Given the description of an element on the screen output the (x, y) to click on. 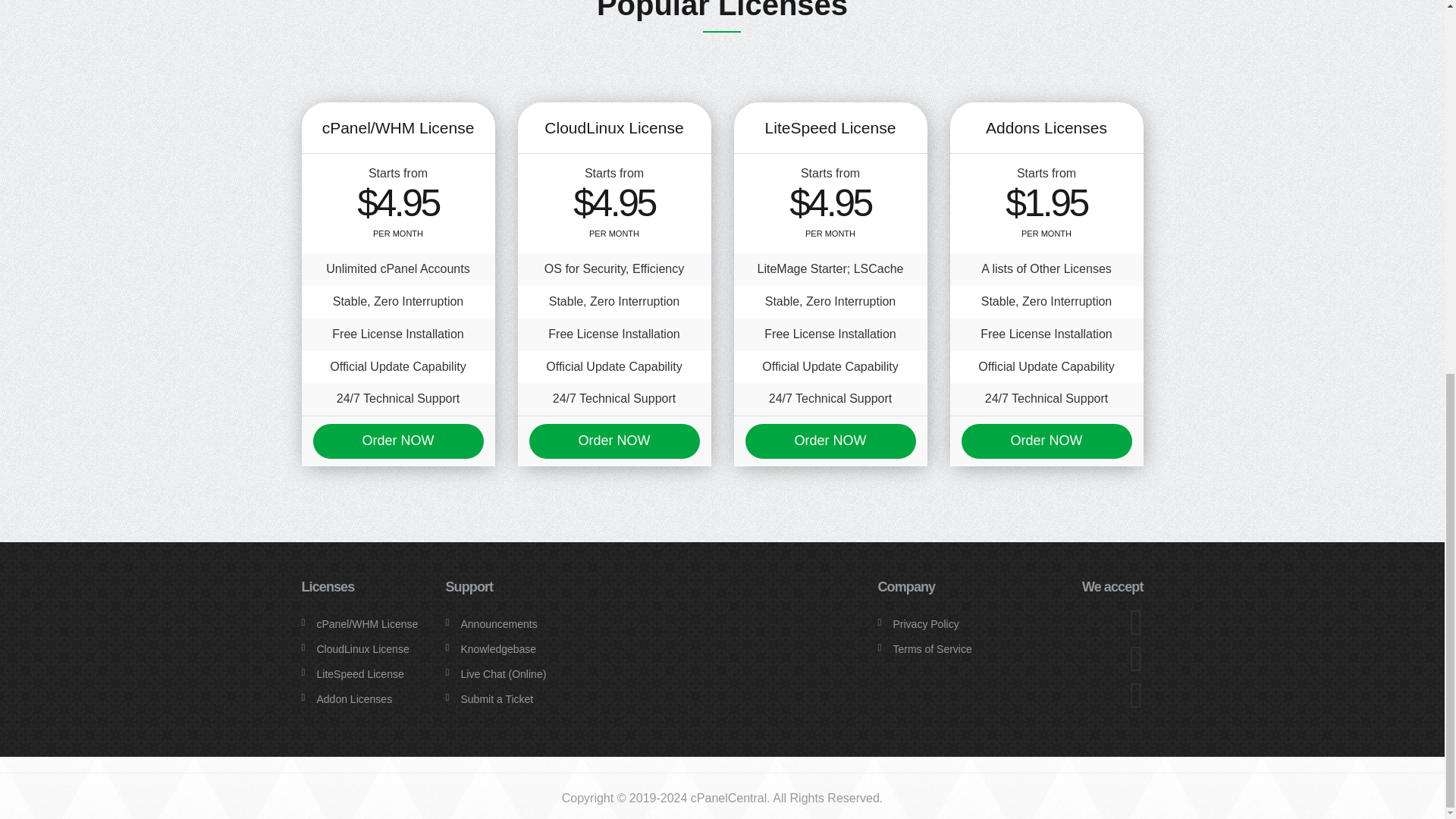
Privacy Policy (926, 623)
Terms of Service (932, 648)
Order NOW (1046, 441)
Announcements (499, 623)
Order NOW (829, 441)
CloudLinux License (363, 648)
Submit a Ticket (497, 698)
Order NOW (614, 441)
Knowledgebase (499, 648)
LiteSpeed License (360, 674)
Addon Licenses (355, 698)
Order NOW (398, 441)
